Given the description of an element on the screen output the (x, y) to click on. 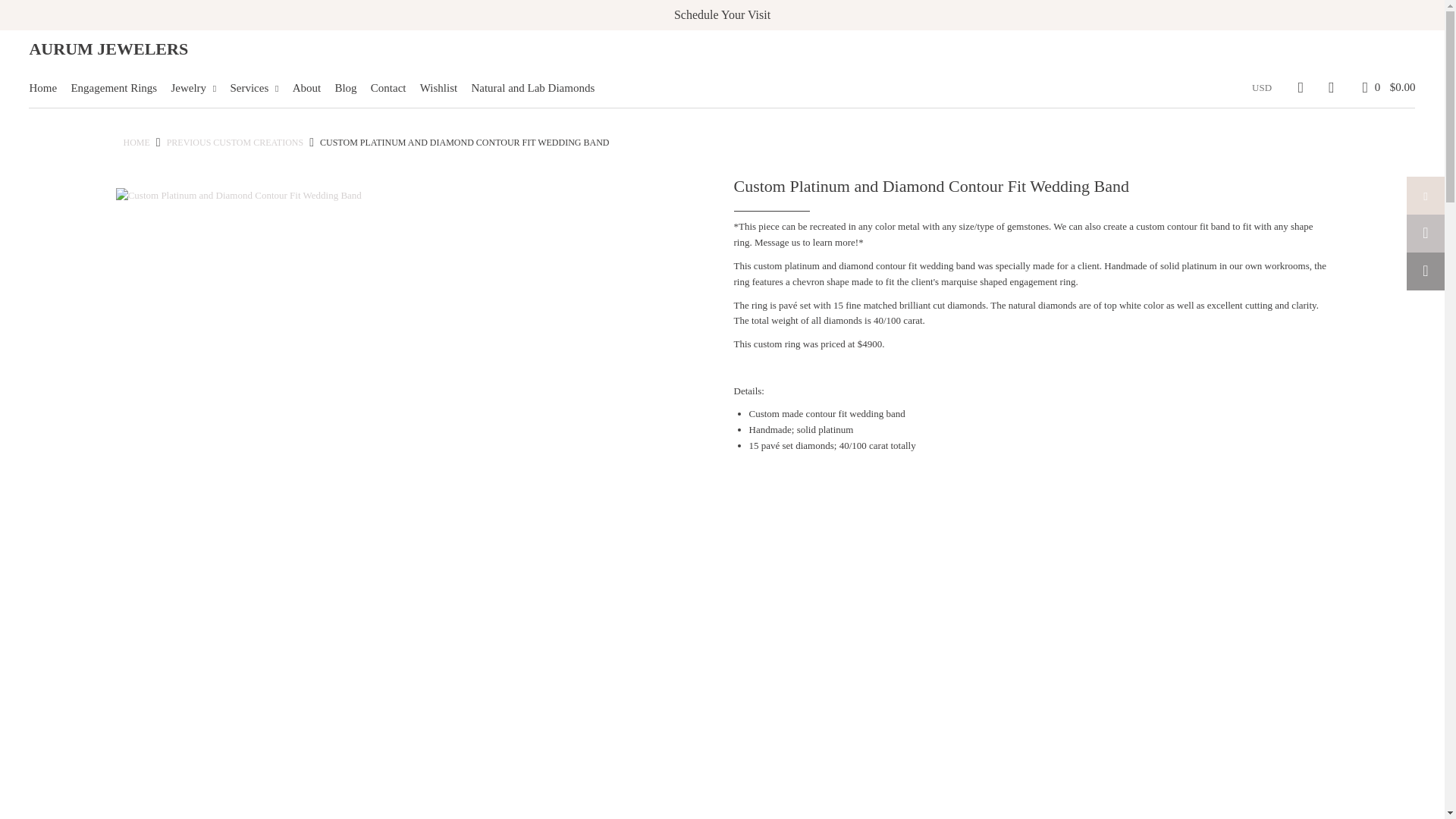
Services (259, 87)
PREVIOUS CUSTOM CREATIONS (234, 142)
HOME (135, 142)
AURUM JEWELERS (108, 48)
Jewelry (198, 87)
Home (135, 142)
Wishlist (444, 87)
Visit Us (722, 14)
Home (48, 87)
Schedule Your Visit (722, 14)
Contact (394, 87)
About (312, 87)
Natural and Lab Diamonds (537, 87)
Blog (351, 87)
Engagement Rings (118, 87)
